Given the description of an element on the screen output the (x, y) to click on. 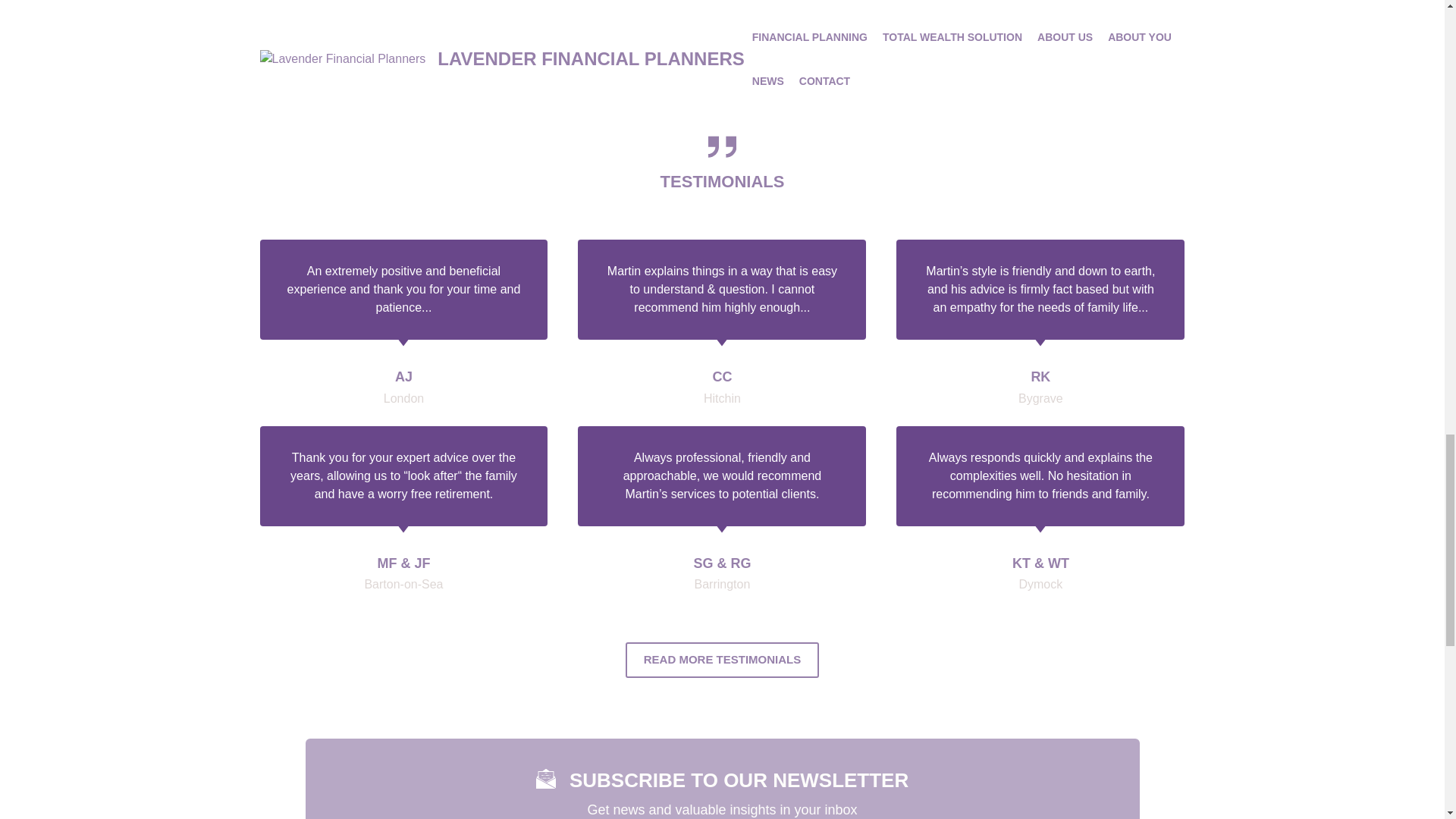
READ MORE TESTIMONIALS (722, 660)
